Given the description of an element on the screen output the (x, y) to click on. 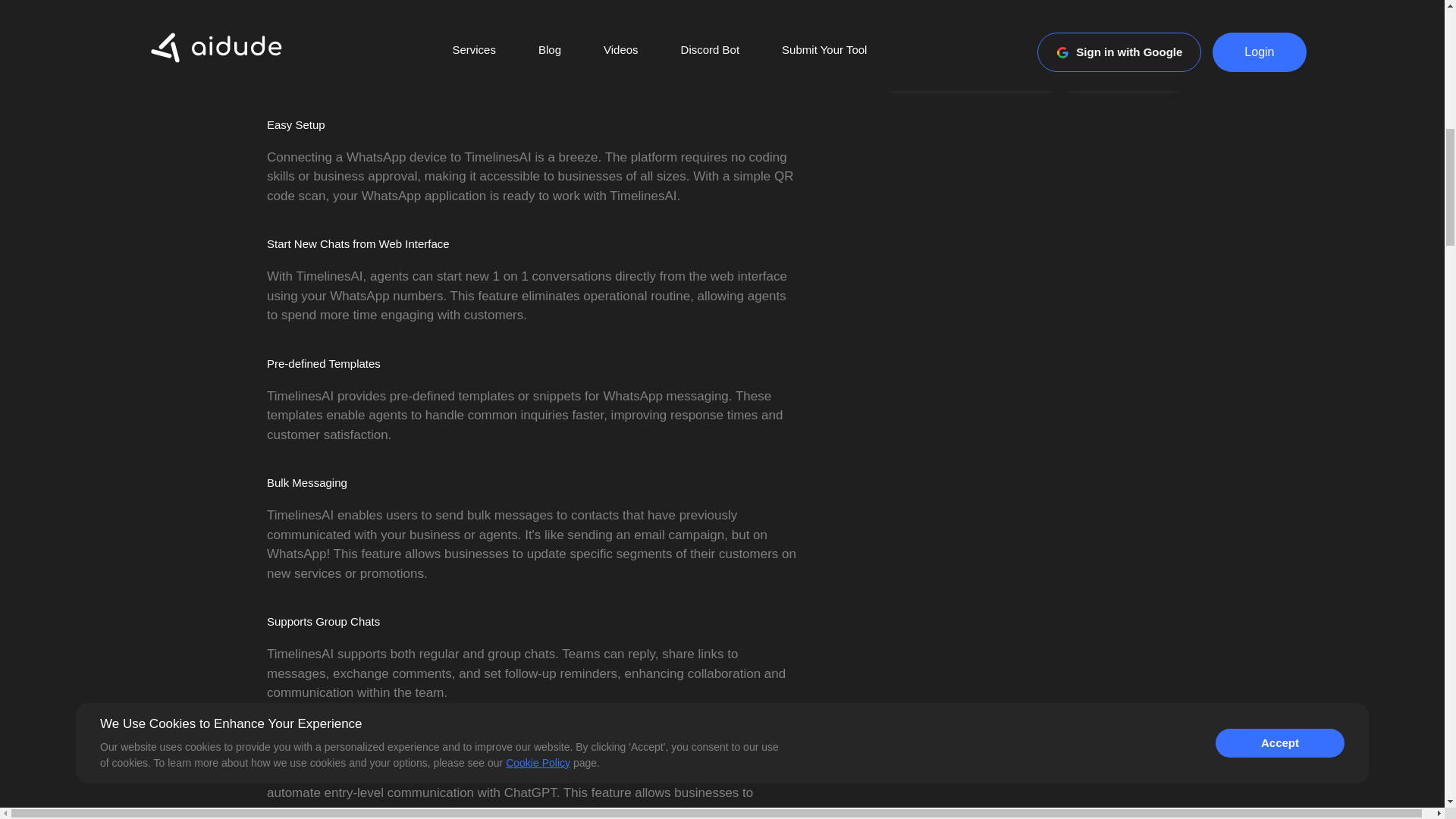
CRM integration (1122, 78)
WhatsApp autoresponder (971, 78)
AI tools (1091, 9)
business communication (968, 9)
WhatsApp inbox (944, 40)
bulk messaging (1068, 40)
